Given the description of an element on the screen output the (x, y) to click on. 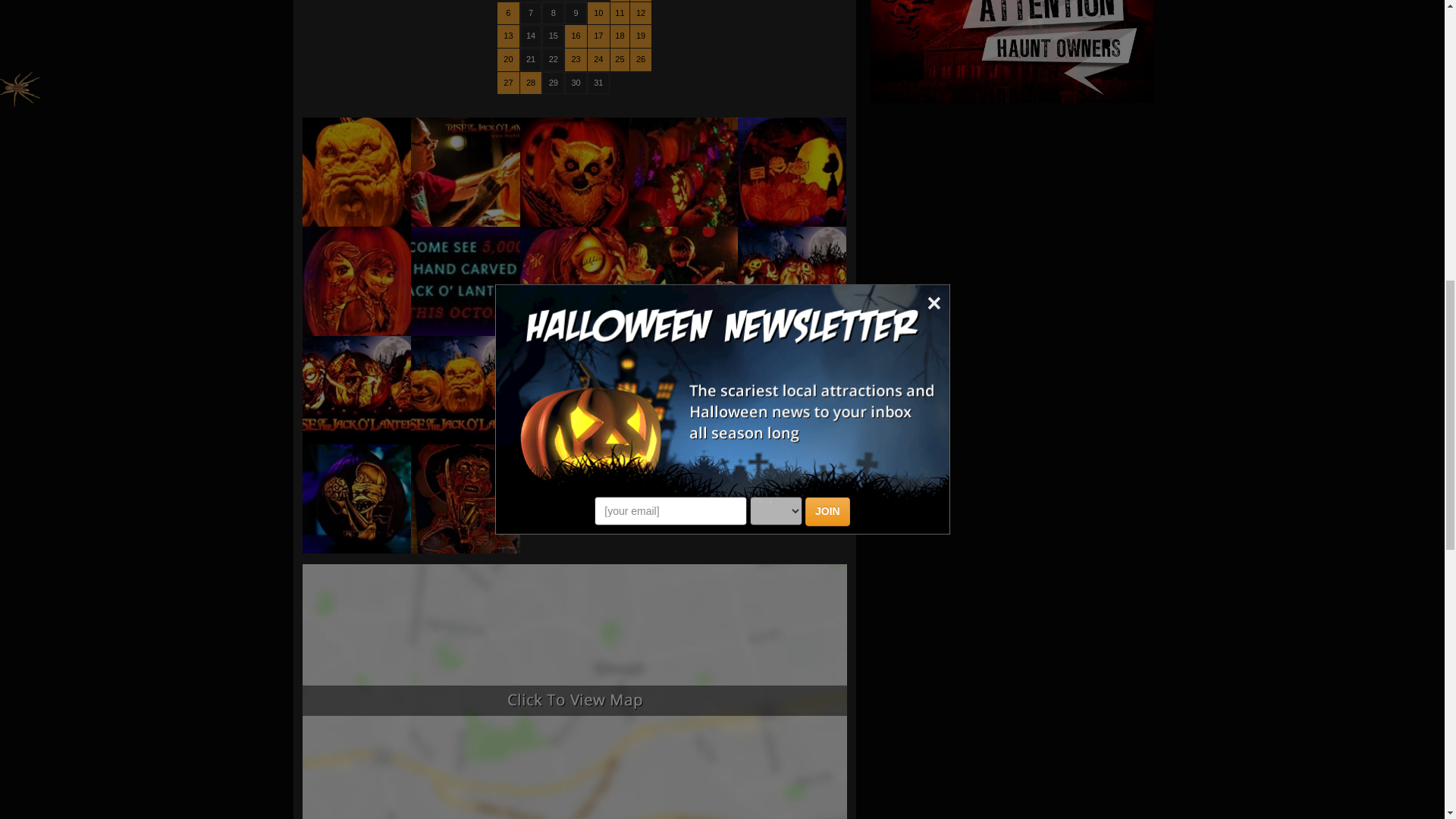
Experience The Mini Carving Factory! (683, 171)
5,000 Hand Carved Jack O'Lanterns (573, 171)
5,000 Hand Carved Jack O'Lanterns! (464, 280)
RISE of The Jack O'Lanterns (355, 171)
Children 2 and Under Free! (683, 280)
RISE of The Jack O'Lanterns (792, 171)
RISE of The Jack O'Lanterns (355, 280)
See 5,000 Hand-Carved Jack O'Lanterns! (464, 388)
RISE of The Jack O'Lanterns (573, 280)
See 5,000 Hand-Carved Jack O'Lanterns! (355, 388)
